Given the description of an element on the screen output the (x, y) to click on. 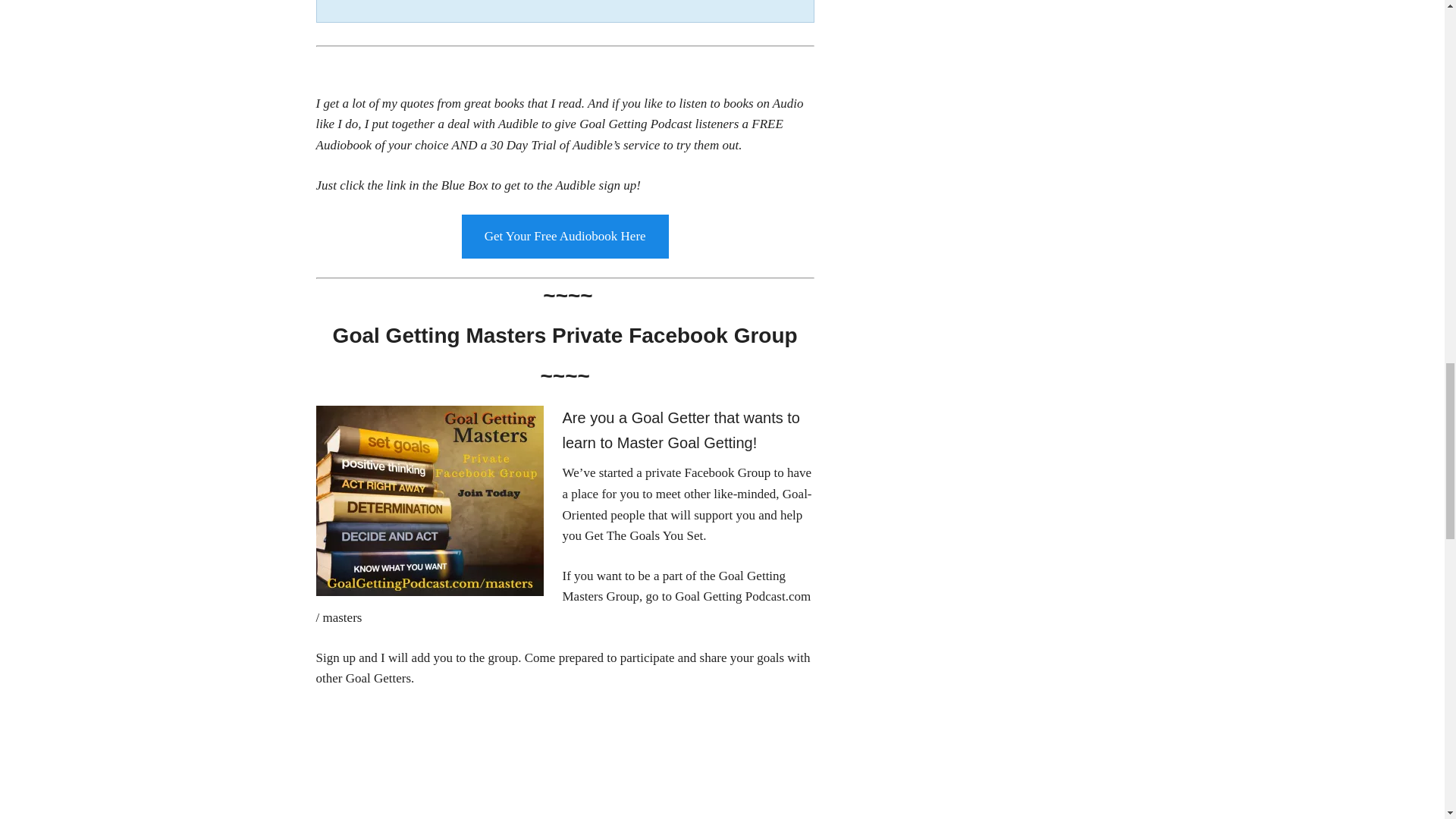
Get Your Free Audiobook Here (564, 236)
